Given the description of an element on the screen output the (x, y) to click on. 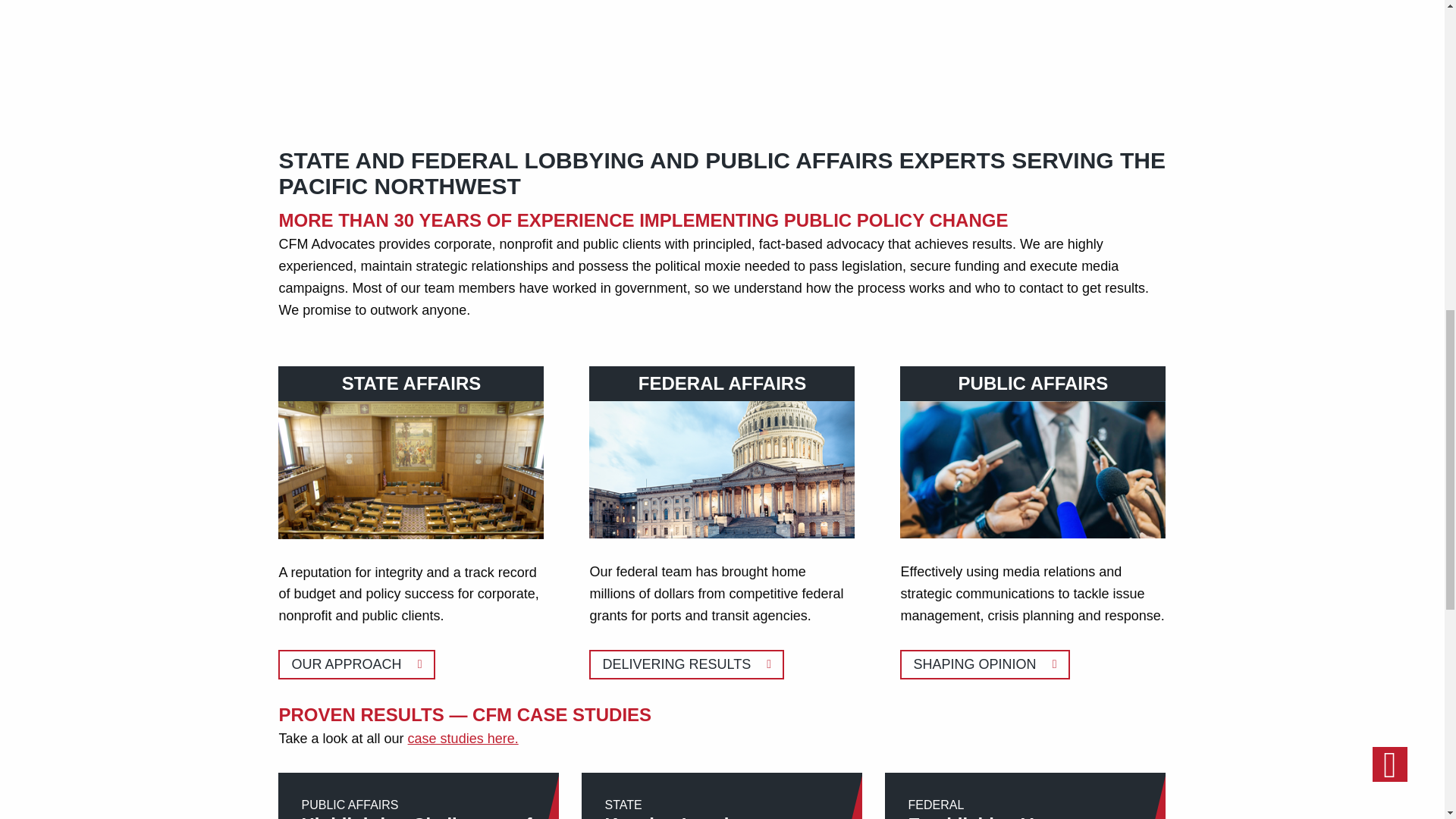
SHAPING OPINION (983, 664)
OUR APPROACH (355, 664)
federal-affairs (720, 796)
case studies here. (721, 469)
DELIVERING RESULTS (462, 738)
State Affairs (686, 664)
Federal Affairs (1025, 796)
case-studies-homepage-cta (355, 664)
